Given the description of an element on the screen output the (x, y) to click on. 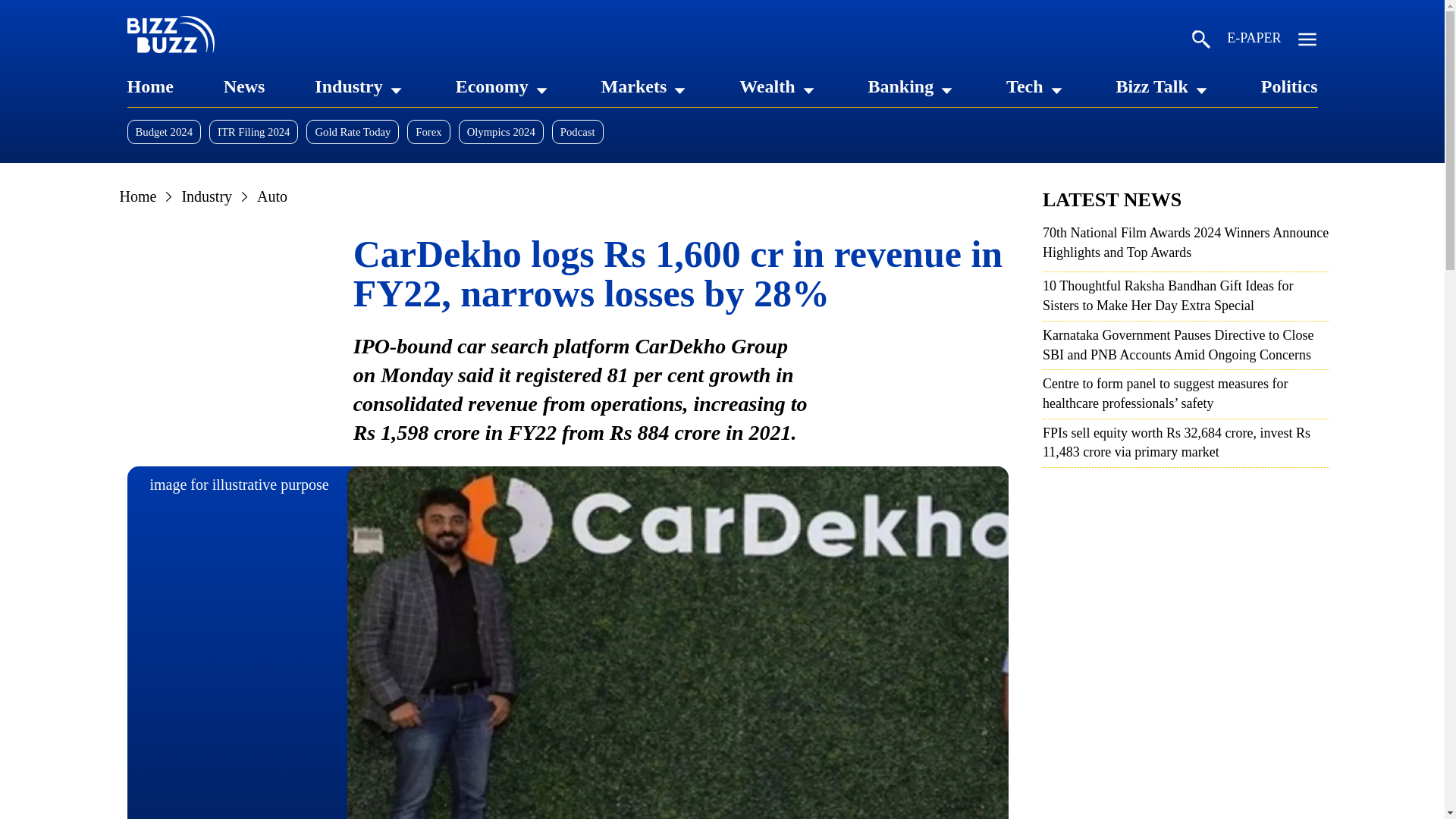
Home (150, 86)
News (244, 86)
Wealth (766, 86)
Industry (347, 86)
Economy (491, 86)
Markets (633, 86)
E-PAPER (1254, 41)
